Given the description of an element on the screen output the (x, y) to click on. 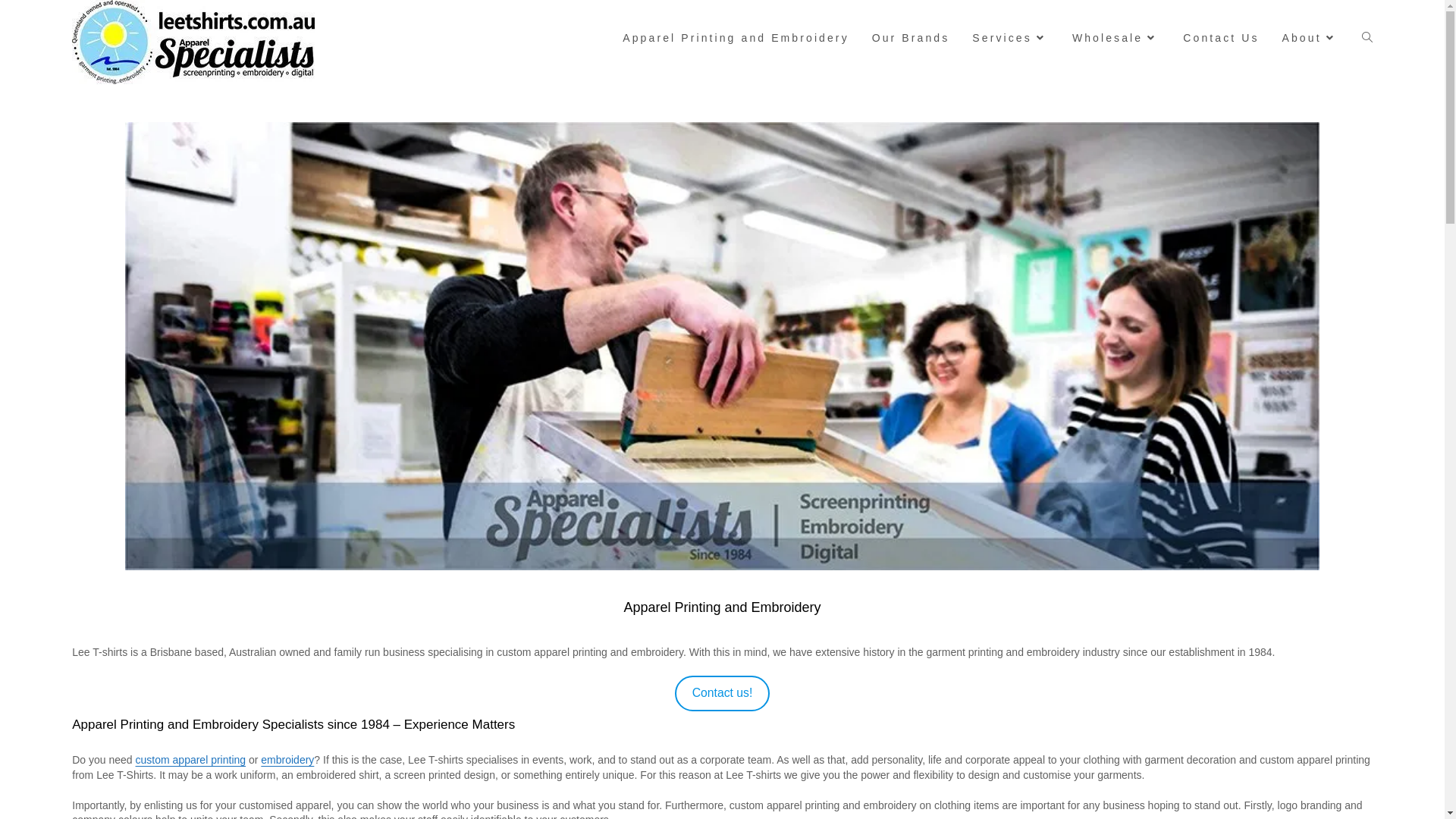
About Element type: text (1310, 38)
custom apparel printing Element type: text (190, 759)
Contact us! Element type: text (722, 693)
Services Element type: text (1010, 38)
Contact Us Element type: text (1220, 38)
Apparel Printing and Embroidery Element type: text (735, 38)
Wholesale Element type: text (1115, 38)
embroidery Element type: text (286, 759)
Toggle website search Element type: text (1366, 38)
Our Brands Element type: text (910, 38)
